Given the description of an element on the screen output the (x, y) to click on. 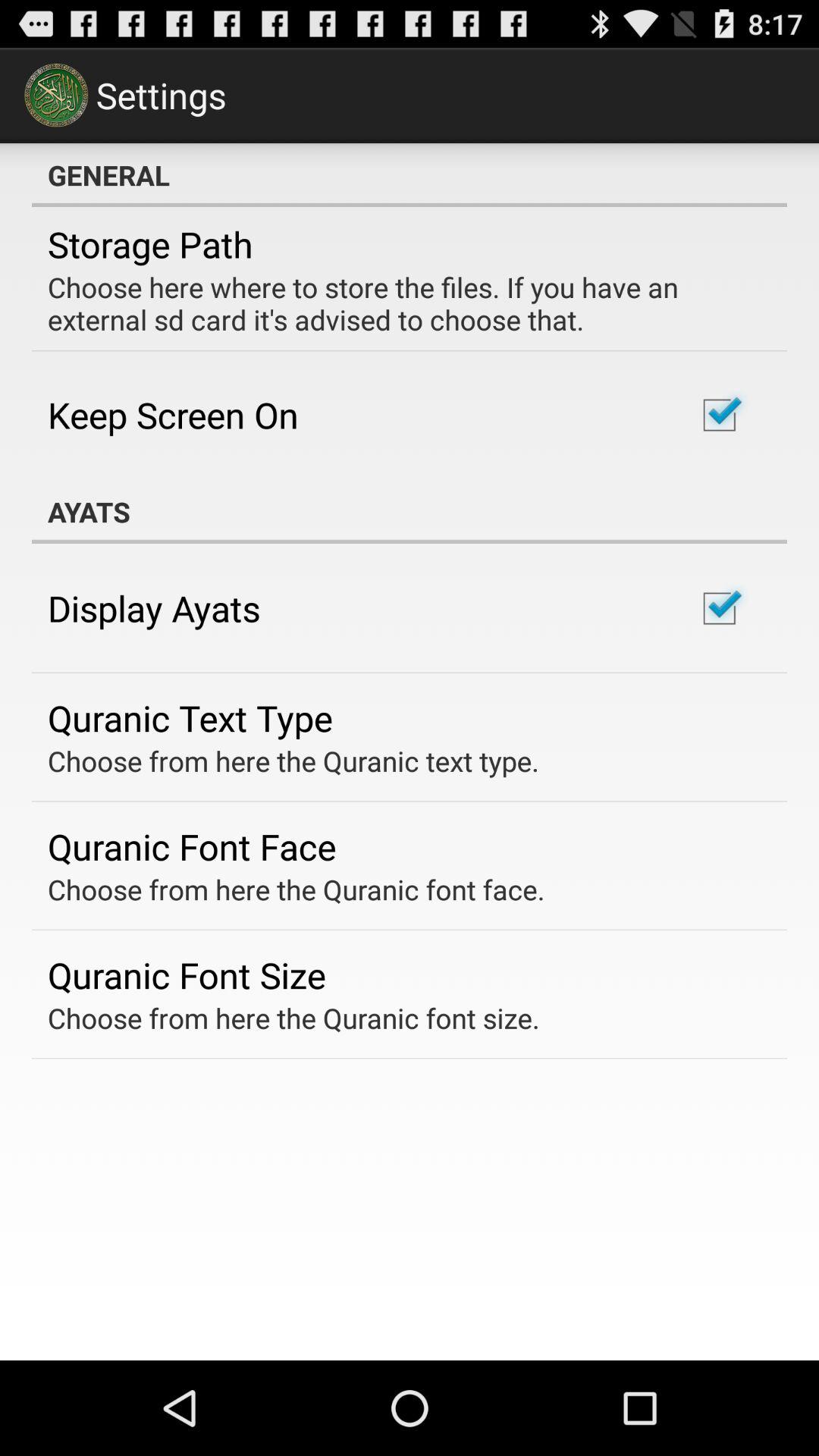
click display ayats item (153, 608)
